Given the description of an element on the screen output the (x, y) to click on. 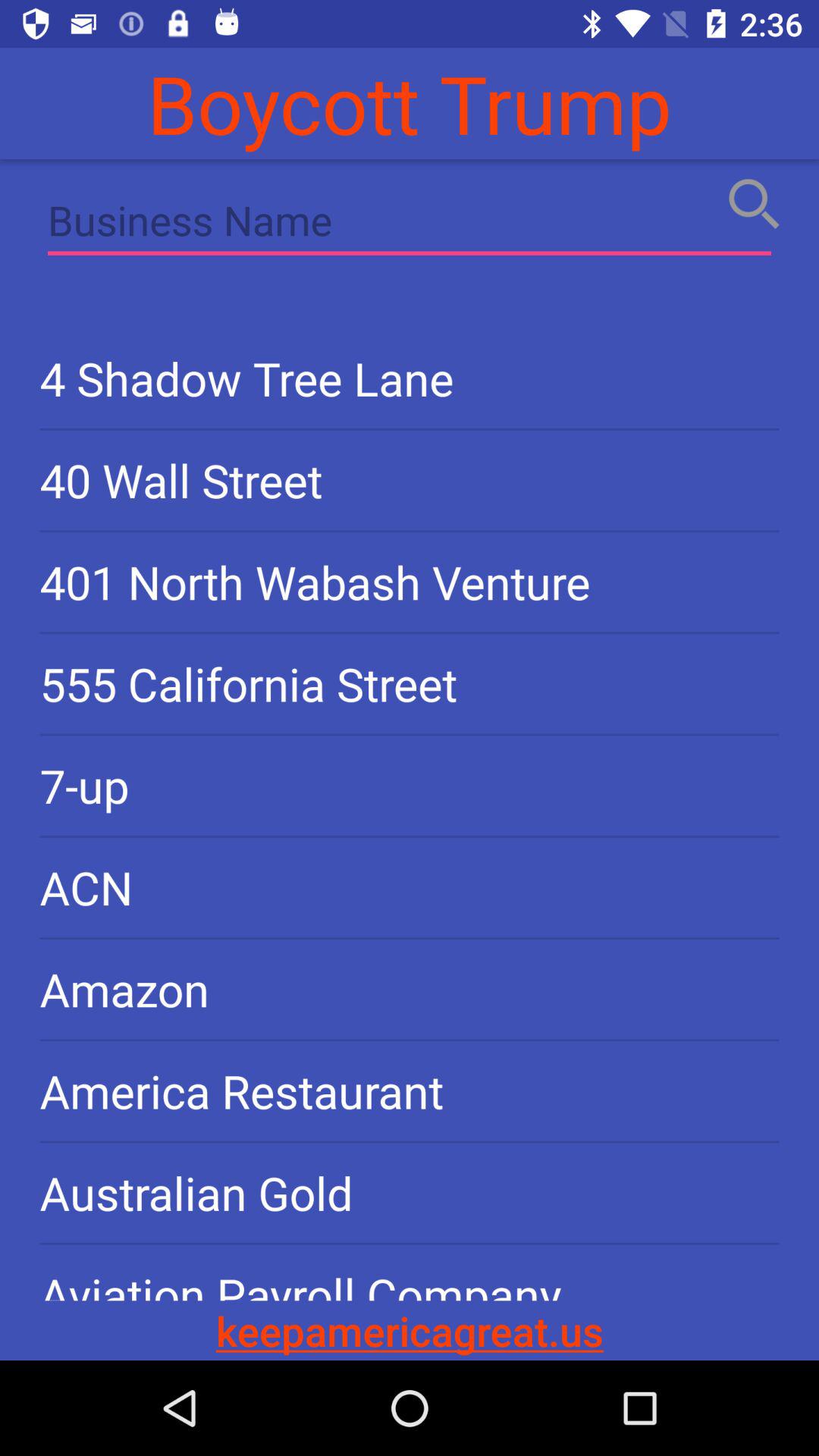
tap item above the 4 shadow tree icon (409, 224)
